Given the description of an element on the screen output the (x, y) to click on. 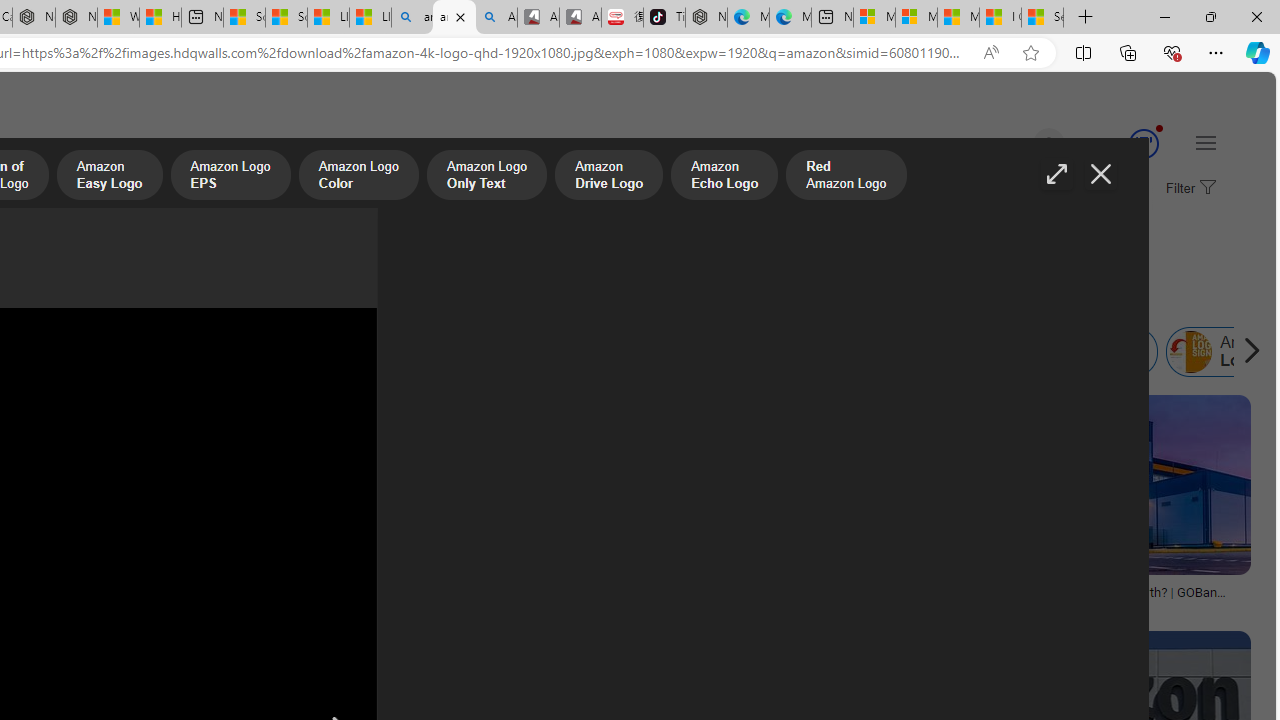
Class: medal-circled (1143, 143)
Amazon Egypt (901, 351)
Eugene (1019, 143)
Amazon Echo Robot - Search Images (496, 17)
Amazon Logo Color (358, 177)
Amazon Package (1042, 351)
Close image (1100, 173)
Class: item col (1087, 351)
Huge shark washes ashore at New York City beach | Watch (159, 17)
